Given the description of an element on the screen output the (x, y) to click on. 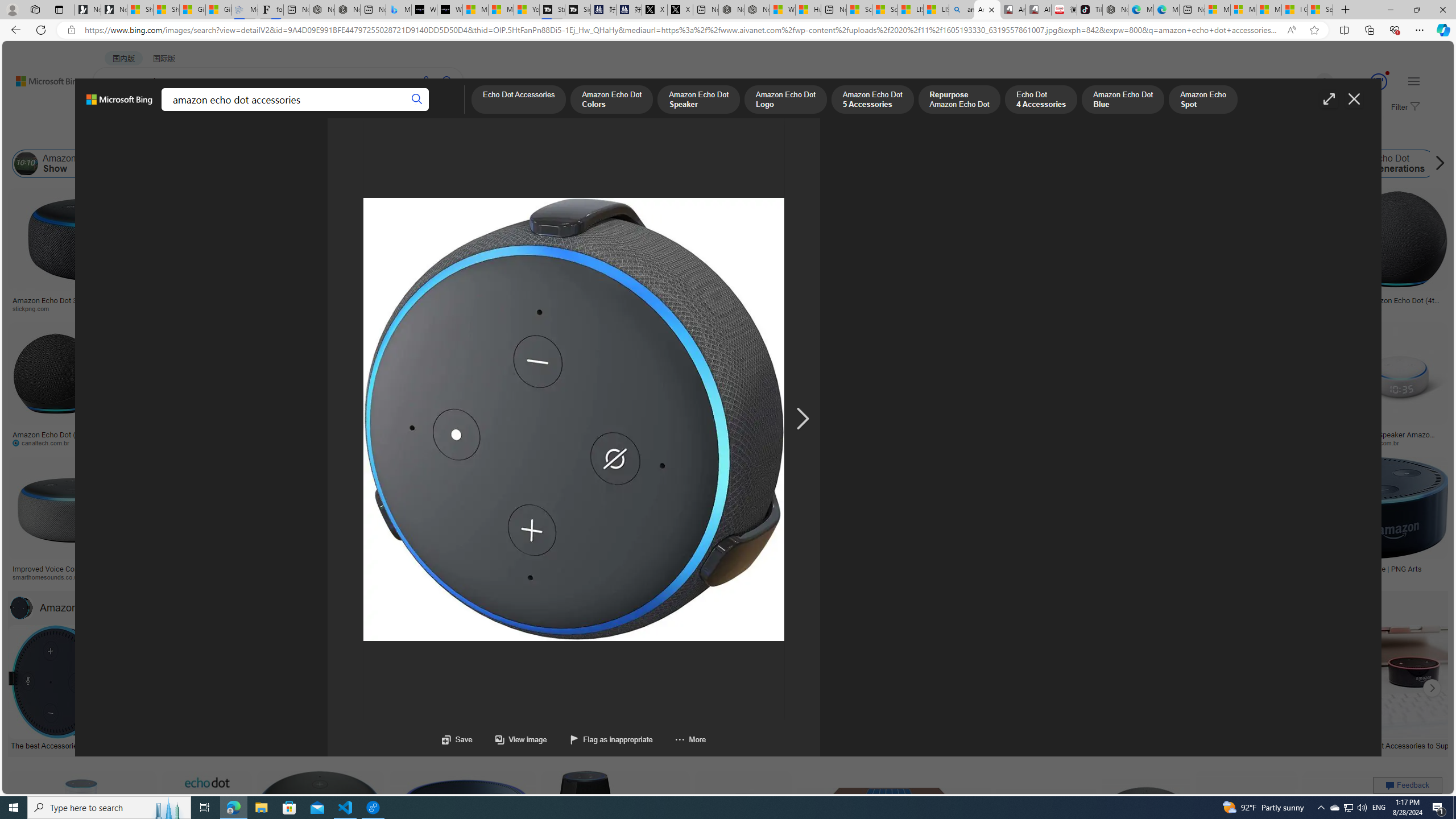
Amazon Echo Dot Kids Edition - 5th Generation (794, 572)
Amazon Echo Dot 3 (1278, 163)
mediamarkt.es (638, 576)
security.org (167, 576)
stickpng.com (653, 308)
View image (521, 739)
Best Amazon Echo Accessories - Tech Advisor (304, 744)
Type (212, 135)
pixabay.com (1168, 308)
Search button (417, 99)
